Given the description of an element on the screen output the (x, y) to click on. 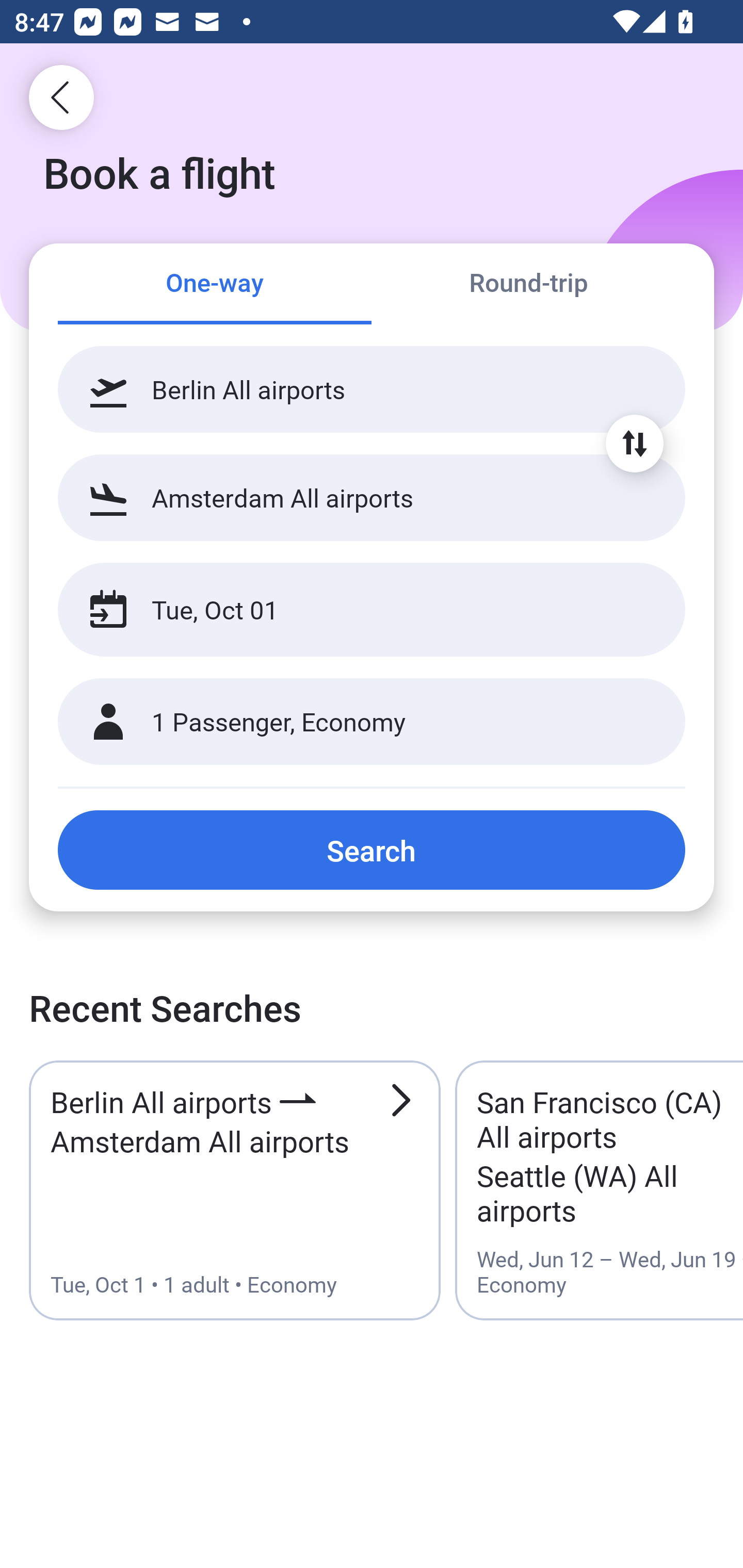
Round-trip (528, 284)
Berlin All airports (371, 389)
Amsterdam All airports (371, 497)
Tue, Oct 01 (349, 609)
1 Passenger, Economy (371, 721)
Search (371, 849)
